Given the description of an element on the screen output the (x, y) to click on. 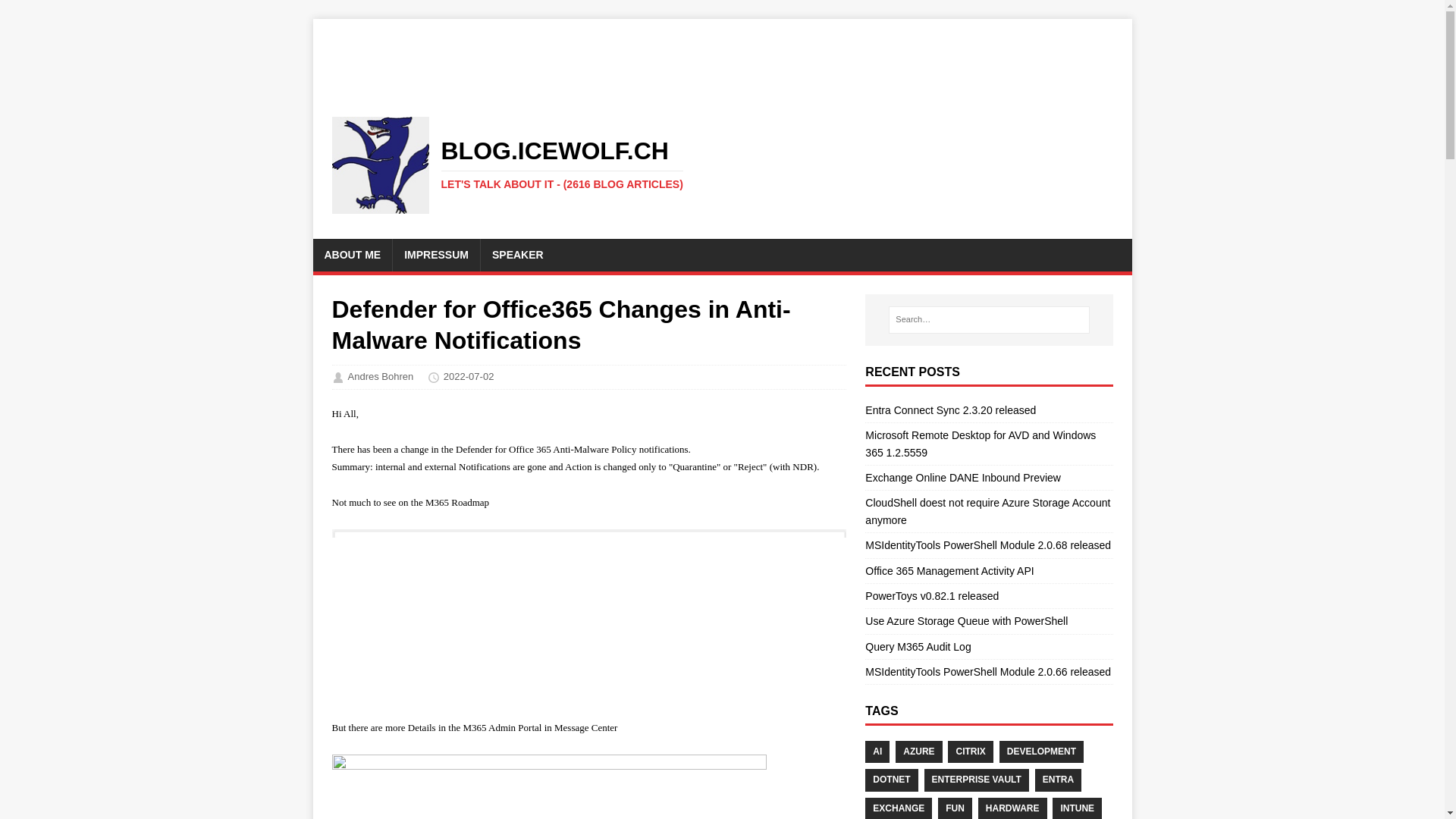
HARDWARE (1012, 808)
Dotnet (890, 780)
INTUNE (1077, 808)
CITRIX (969, 751)
ENTRA (1058, 780)
Development (1040, 751)
ENTRA (1058, 780)
Exchange (897, 808)
EXCHANGE (897, 808)
Microsoft Remote Desktop for AVD and Windows 365 1.2.5559 (980, 443)
PowerToys v0.82.1 released (931, 595)
Enterprise Vault (976, 780)
FUN (954, 808)
Office 365 Management Activity API (948, 570)
Exchange Online DANE Inbound Preview (962, 477)
